Given the description of an element on the screen output the (x, y) to click on. 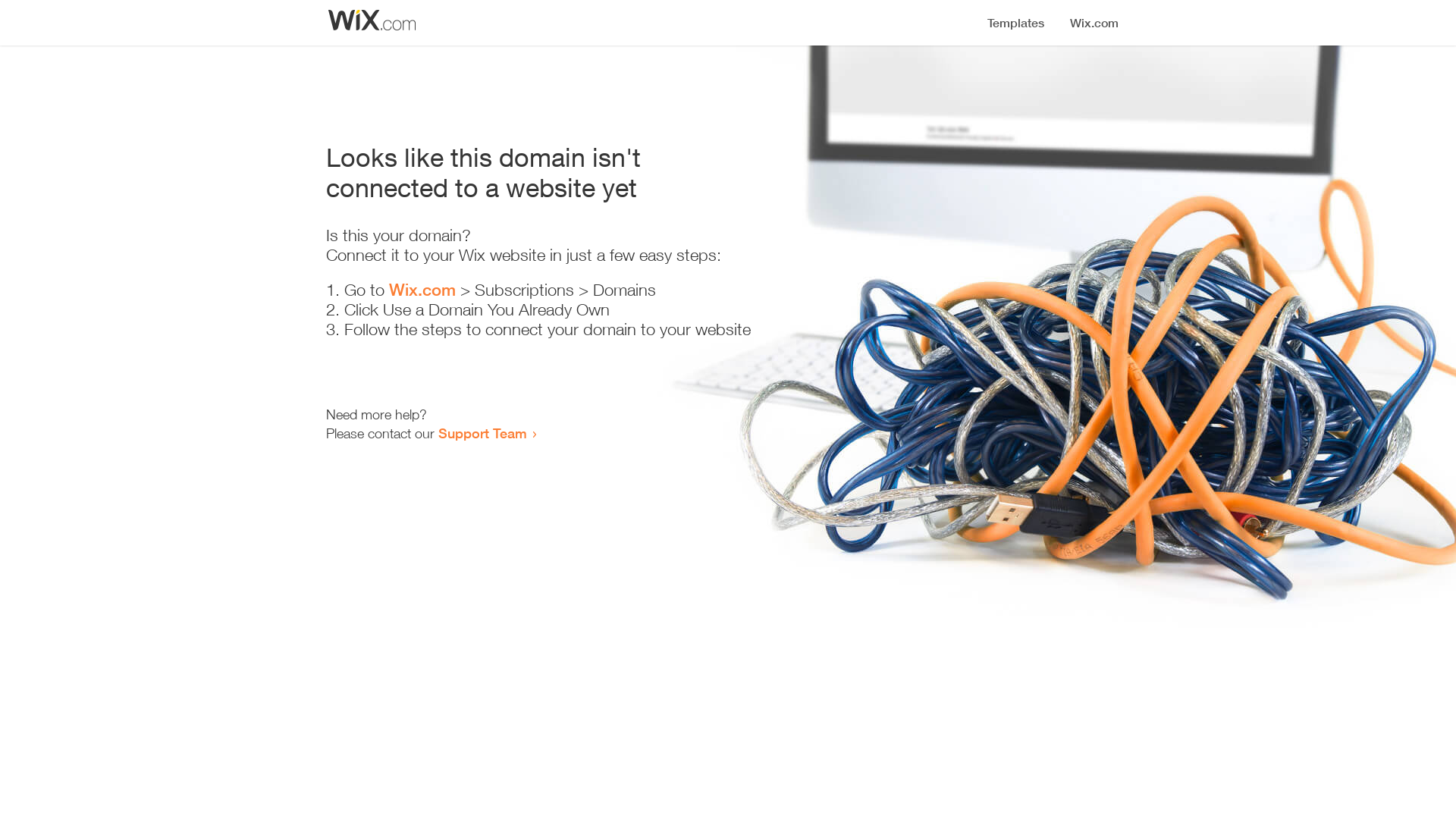
Wix.com Element type: text (422, 289)
Support Team Element type: text (482, 432)
